Given the description of an element on the screen output the (x, y) to click on. 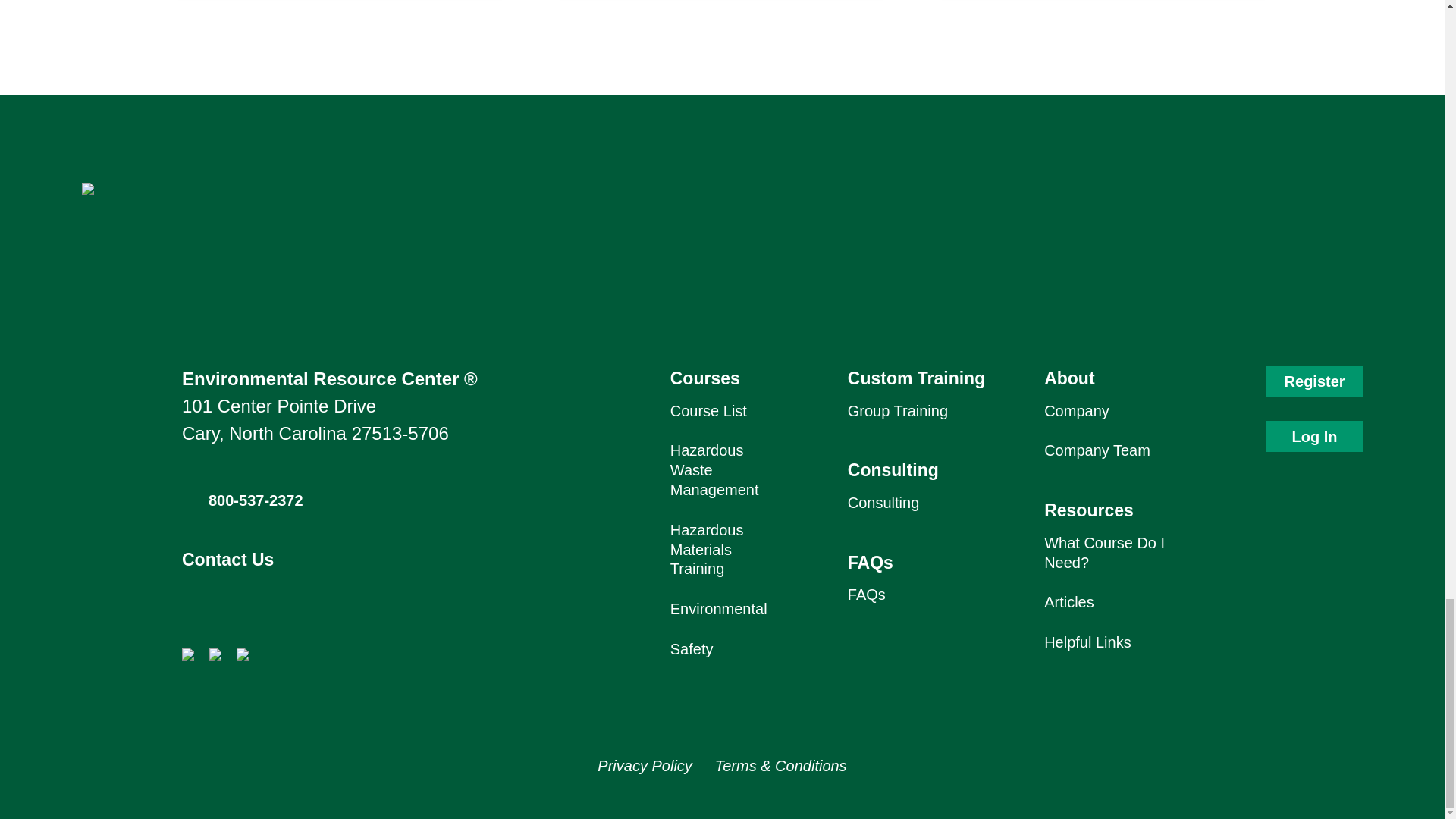
Helpful Links (1087, 641)
Consulting (883, 502)
Log In (1314, 436)
Contact Us (227, 559)
Privacy Policy (643, 765)
Articles (1068, 601)
Group Training (897, 410)
Company Team (1096, 450)
Hazardous Waste Management (713, 469)
Course List (707, 410)
